Given the description of an element on the screen output the (x, y) to click on. 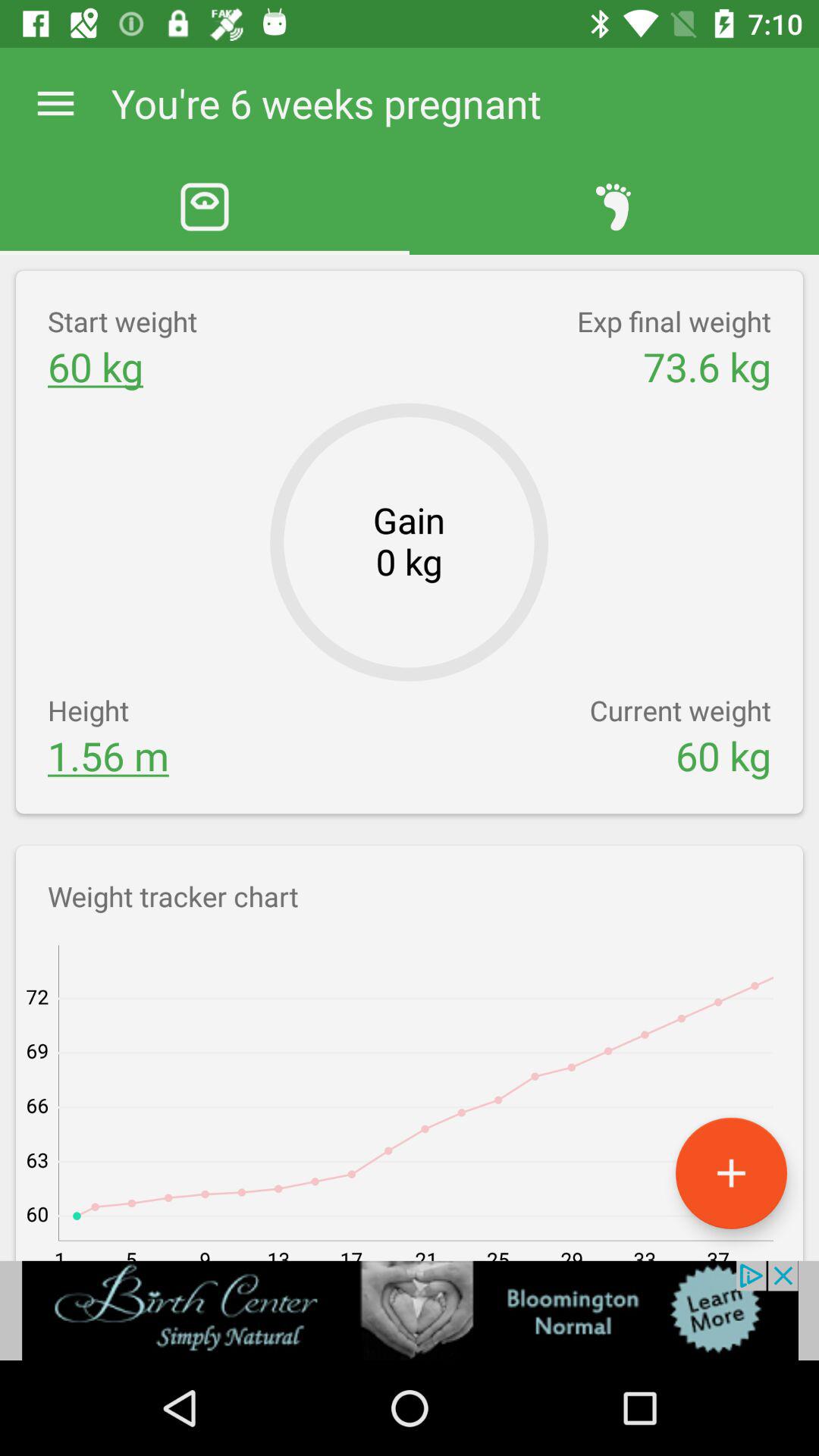
maximize button (731, 1173)
